Given the description of an element on the screen output the (x, y) to click on. 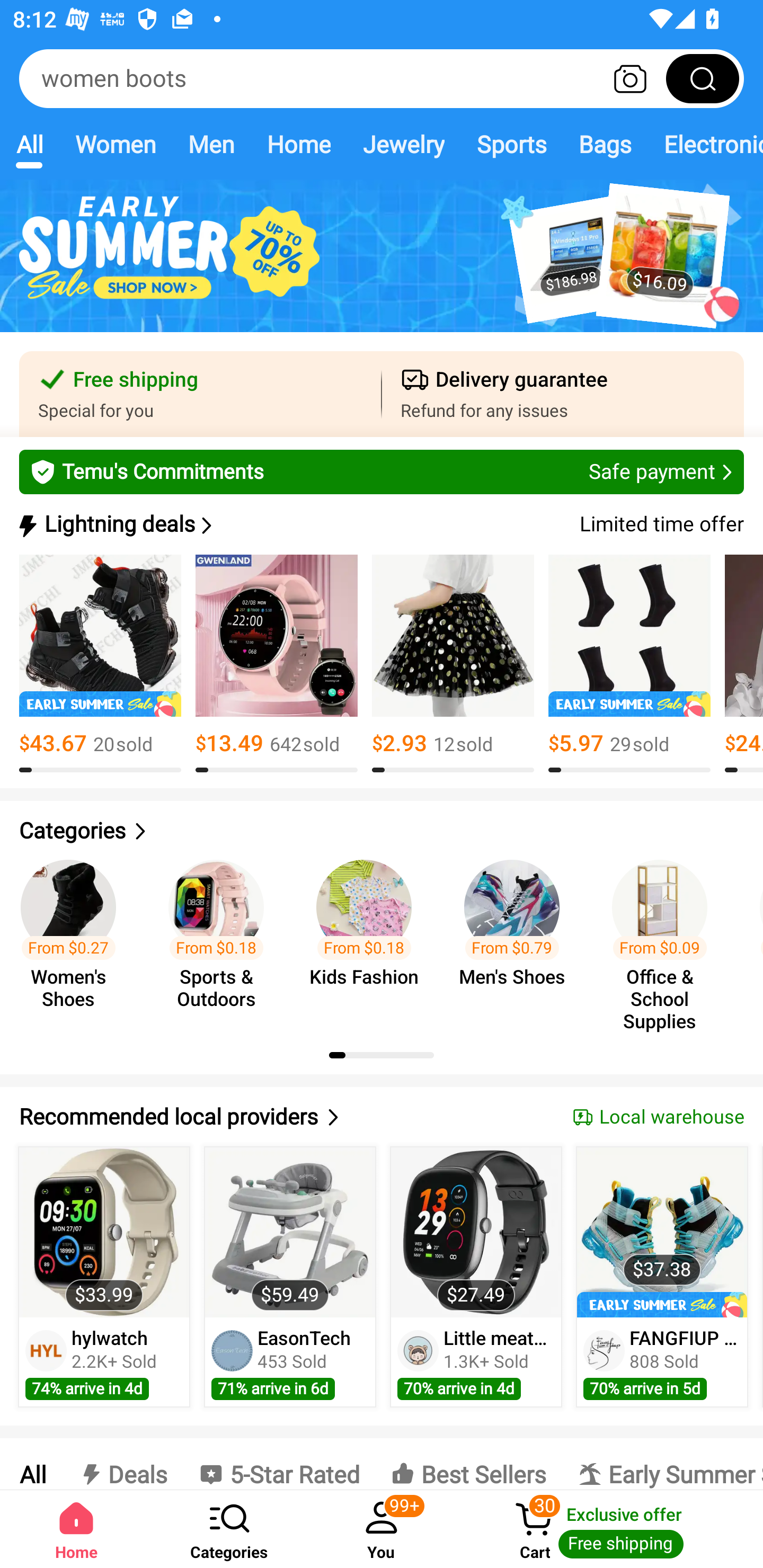
women boots (381, 78)
All (29, 144)
Women (115, 144)
Men (211, 144)
Home (298, 144)
Jewelry (403, 144)
Sports (511, 144)
Bags (605, 144)
Electronics (705, 144)
$186.98 $16.09 (381, 265)
Free shipping Special for you (200, 394)
Delivery guarantee Refund for any issues (562, 394)
Temu's Commitments (381, 471)
Lightning deals Lightning deals Limited time offer (379, 524)
$43.67 20￼sold 8.0 (100, 664)
$13.49 642￼sold 8.0 (276, 664)
$2.93 12￼sold 8.0 (453, 664)
$5.97 29￼sold 8.0 (629, 664)
Categories (381, 830)
From $0.27 Women's Shoes (74, 936)
From $0.18 Sports & Outdoors (222, 936)
From $0.18 Kids Fashion (369, 936)
From $0.79 Men's Shoes (517, 936)
From $0.09 Office & School Supplies (665, 936)
$33.99 hylwatch 2.2K+ Sold 74% arrive in 4d (103, 1276)
$59.49 EasonTech 453 Sold 71% arrive in 6d (289, 1276)
$33.99 (104, 1232)
$59.49 (290, 1232)
$27.49 (475, 1232)
$37.38 (661, 1232)
All (32, 1463)
Deals Deals Deals (122, 1463)
5-Star Rated 5-Star Rated 5-Star Rated (279, 1463)
Best Sellers Best Sellers Best Sellers (468, 1463)
Home (76, 1528)
Categories (228, 1528)
You ‎99+‎ You (381, 1528)
Cart 30 Cart Exclusive offer (610, 1528)
